Given the description of an element on the screen output the (x, y) to click on. 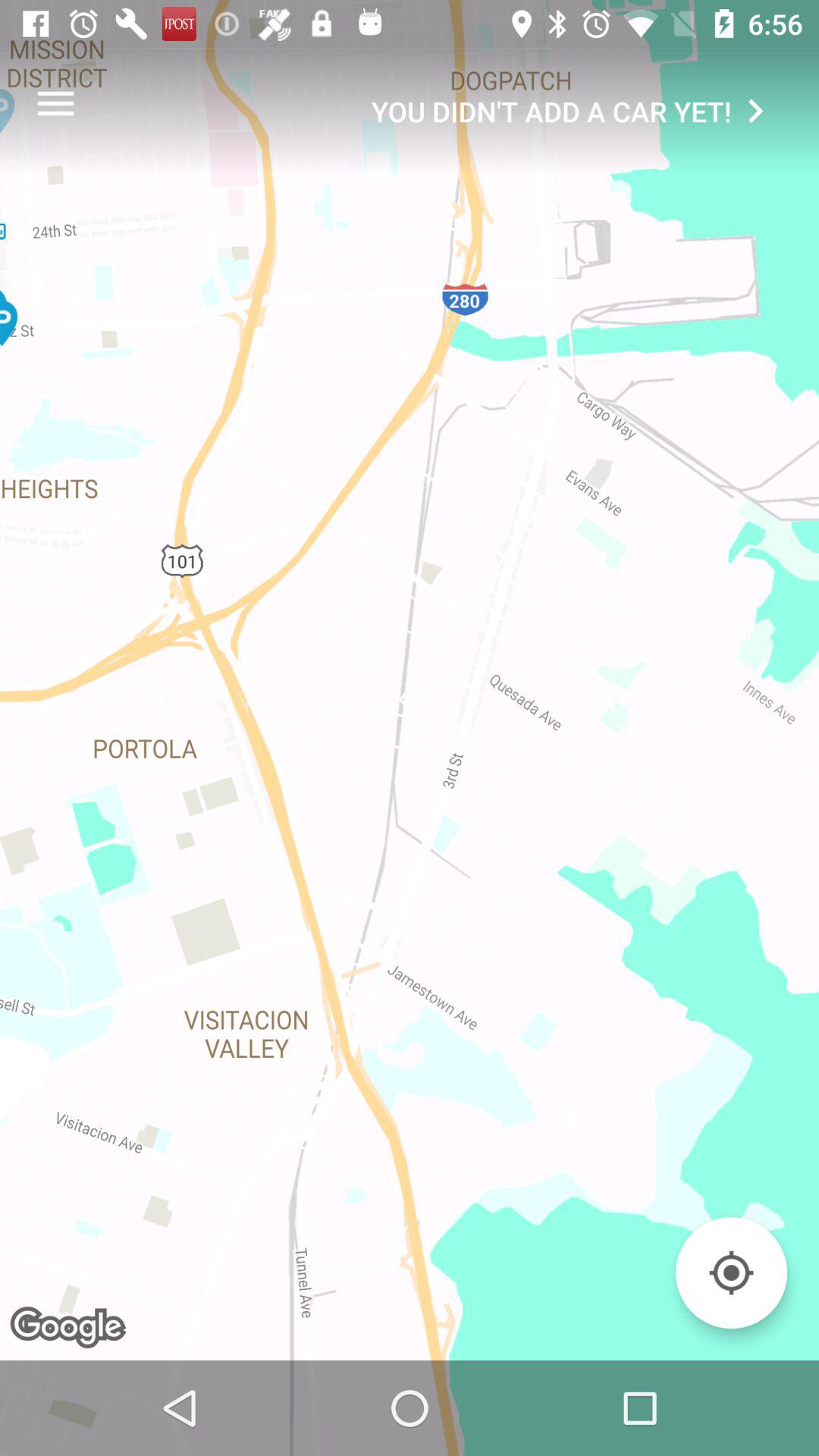
location (731, 1272)
